Given the description of an element on the screen output the (x, y) to click on. 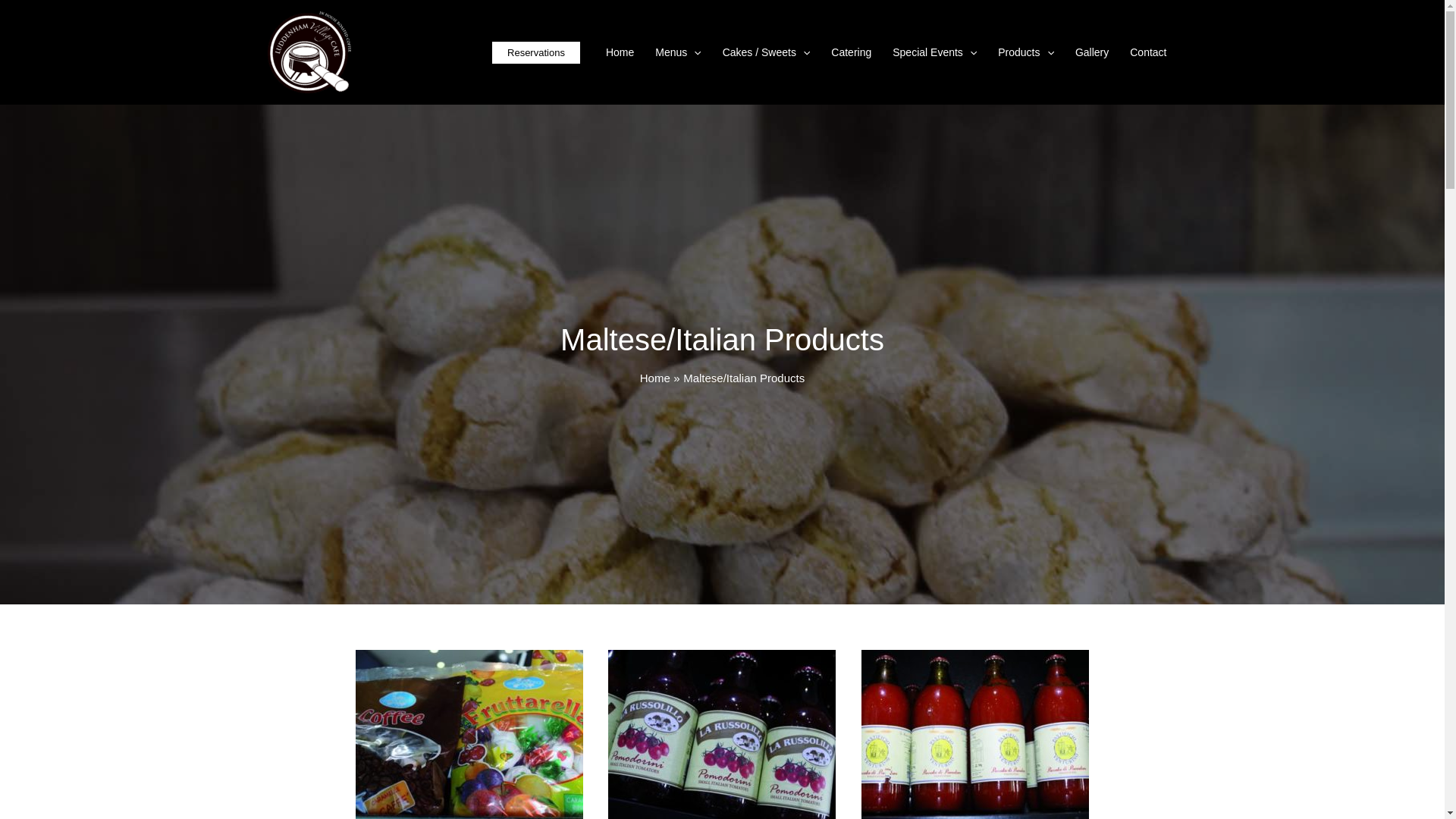
Gallery Element type: text (1091, 51)
Cakes / Sweets Element type: text (766, 51)
Reservations Element type: text (536, 51)
Contact Element type: text (1147, 51)
Menus Element type: text (677, 51)
Products Element type: text (1025, 51)
Catering Element type: text (850, 51)
Special Events Element type: text (934, 51)
Home Element type: text (655, 377)
Home Element type: text (619, 51)
